Given the description of an element on the screen output the (x, y) to click on. 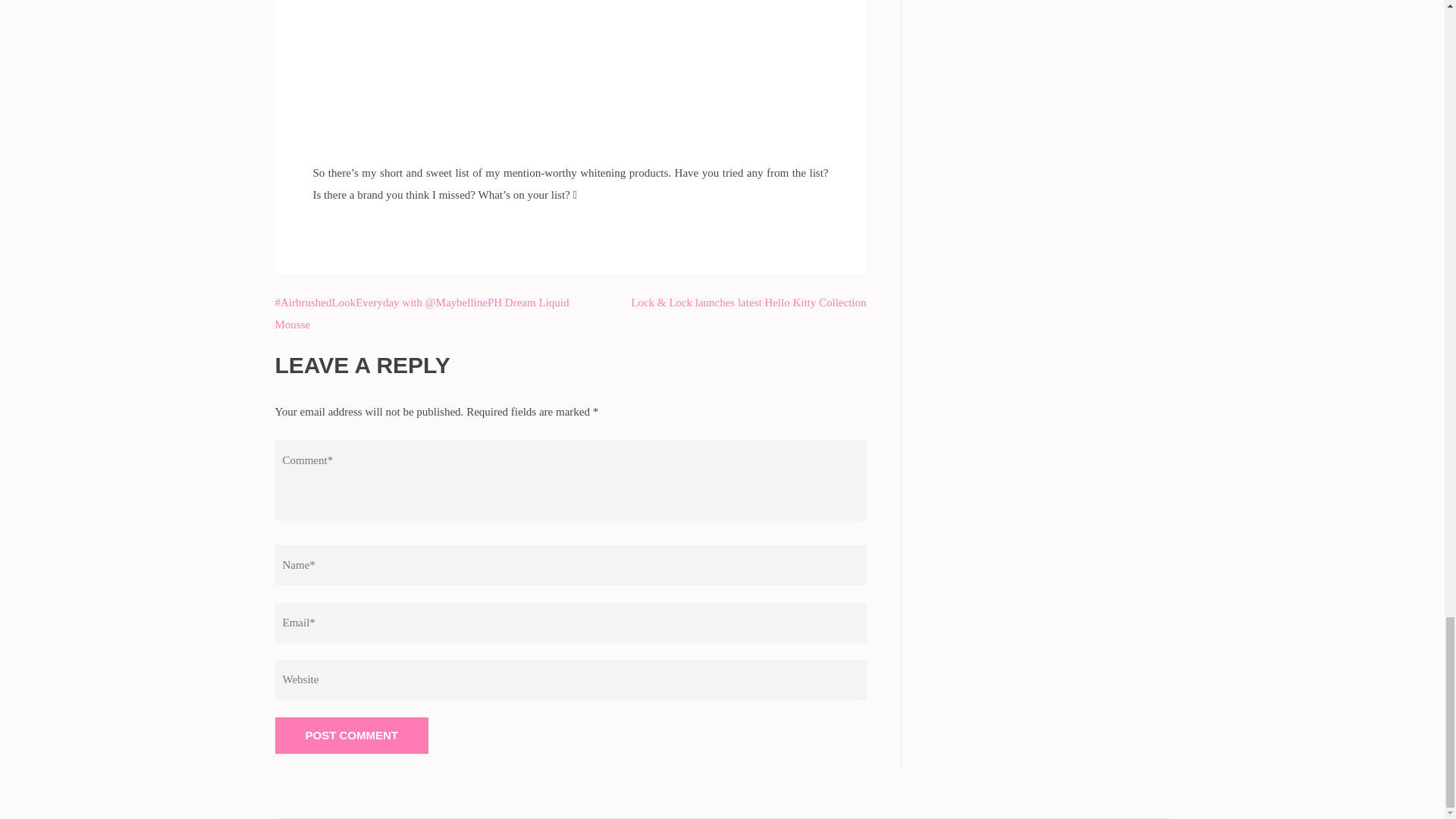
Post Comment (351, 735)
Post Comment (351, 735)
